Given the description of an element on the screen output the (x, y) to click on. 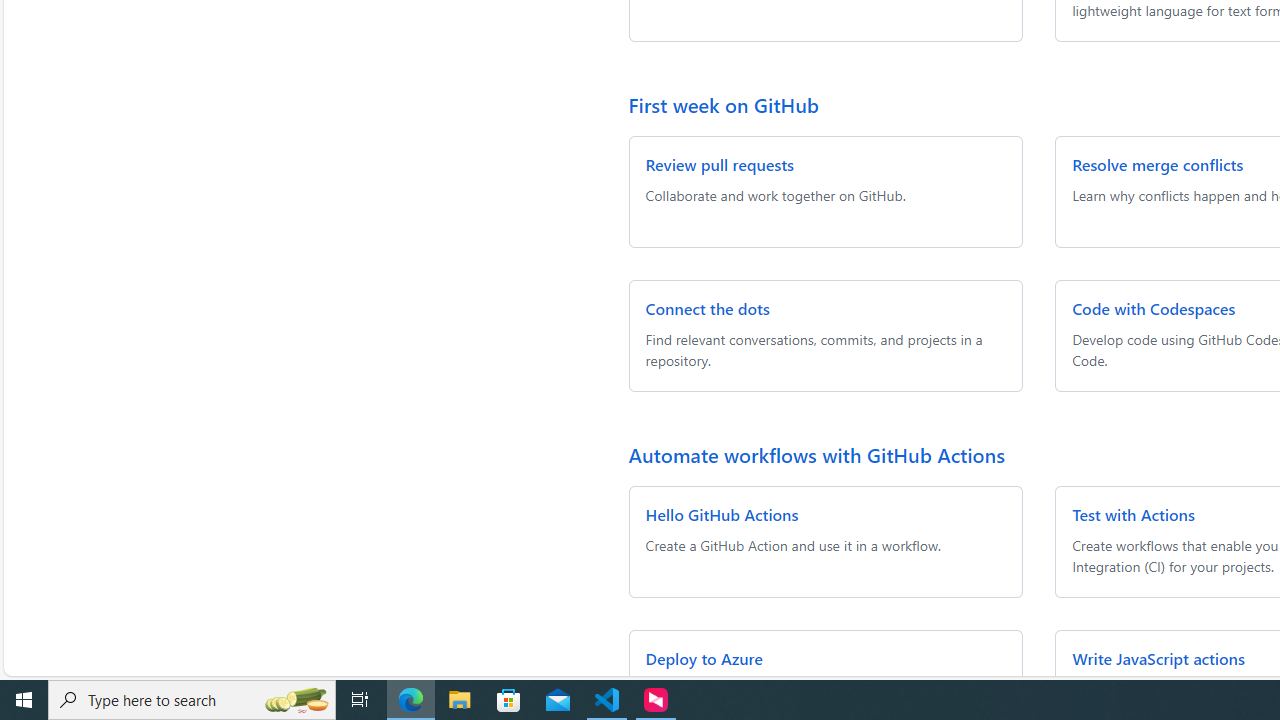
Review pull requests (719, 164)
Test with Actions (1133, 513)
Automate workflows with GitHub Actions (816, 454)
Resolve merge conflicts (1158, 164)
First week on GitHub (723, 104)
Connect the dots (707, 308)
Deploy to Azure (703, 658)
Code with Codespaces (1154, 308)
Write JavaScript actions (1158, 658)
Hello GitHub Actions (721, 513)
